Given the description of an element on the screen output the (x, y) to click on. 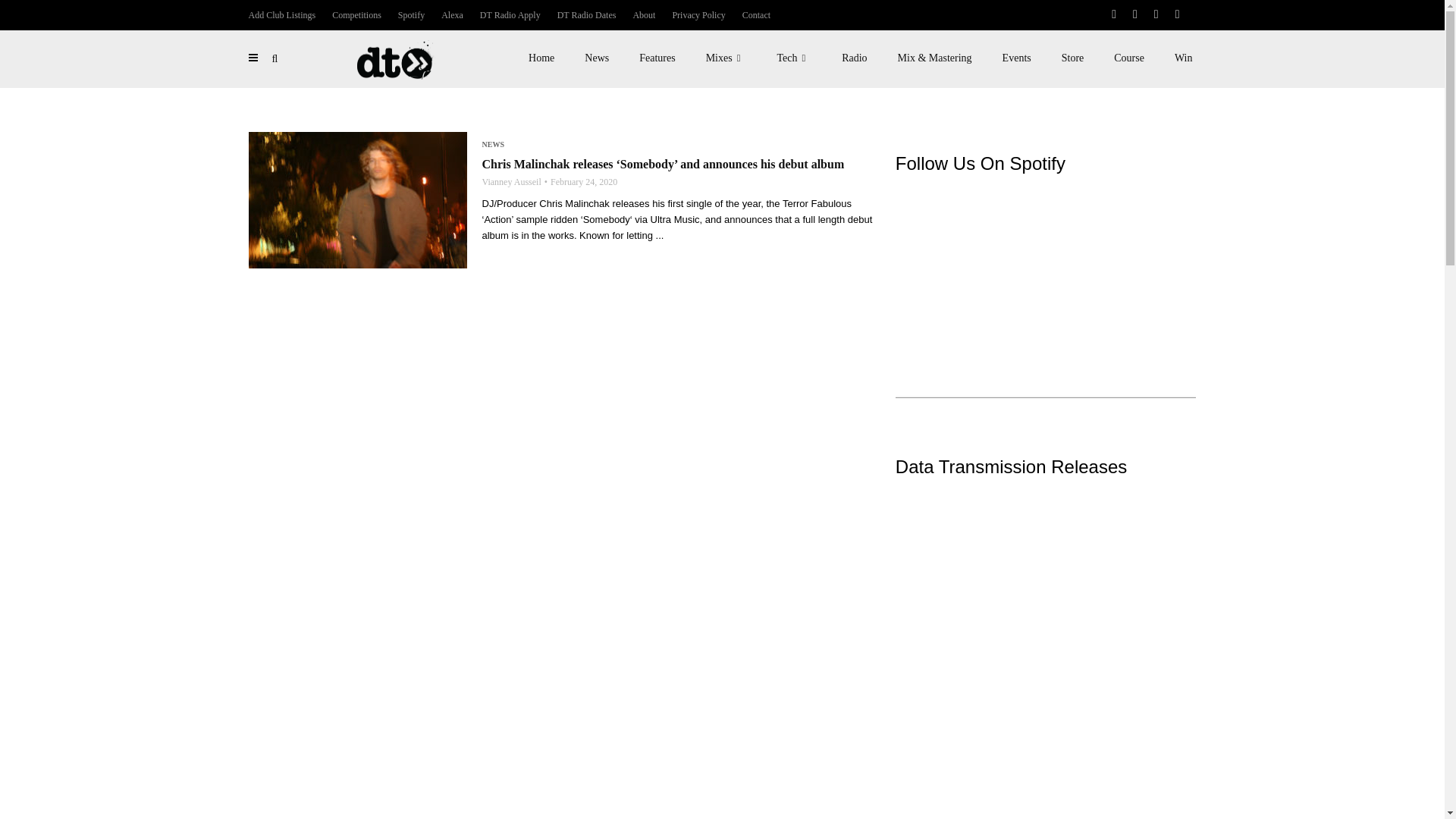
Events (1016, 57)
Radio (854, 57)
Course (1128, 57)
Spotify Embed: New Music Friday (1045, 259)
Mixes (725, 57)
Tech (794, 57)
Features (657, 57)
Store (1072, 57)
News (596, 57)
Home (541, 57)
